Given the description of an element on the screen output the (x, y) to click on. 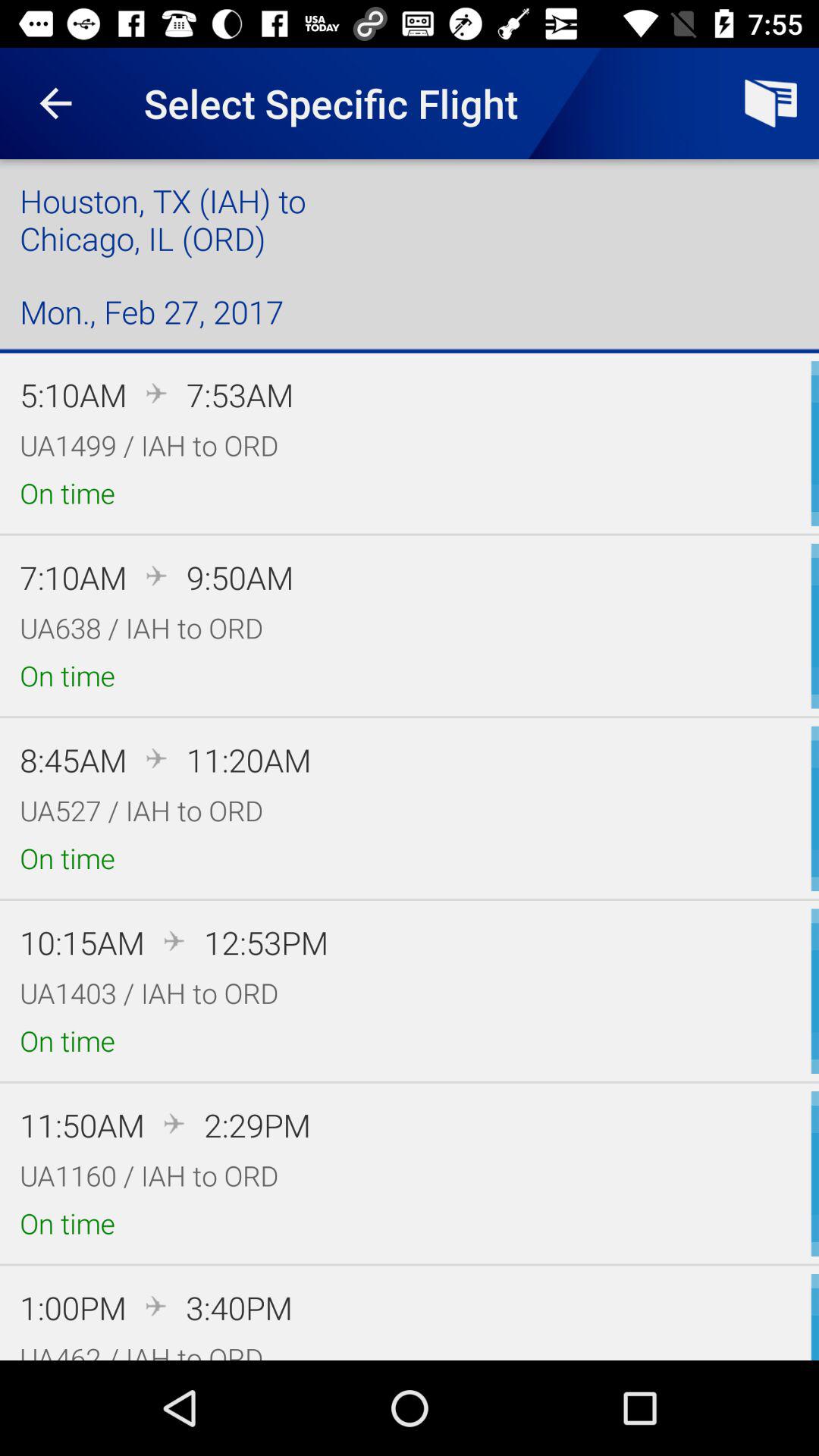
select the icon above ua1160 iah to icon (257, 1124)
